Given the description of an element on the screen output the (x, y) to click on. 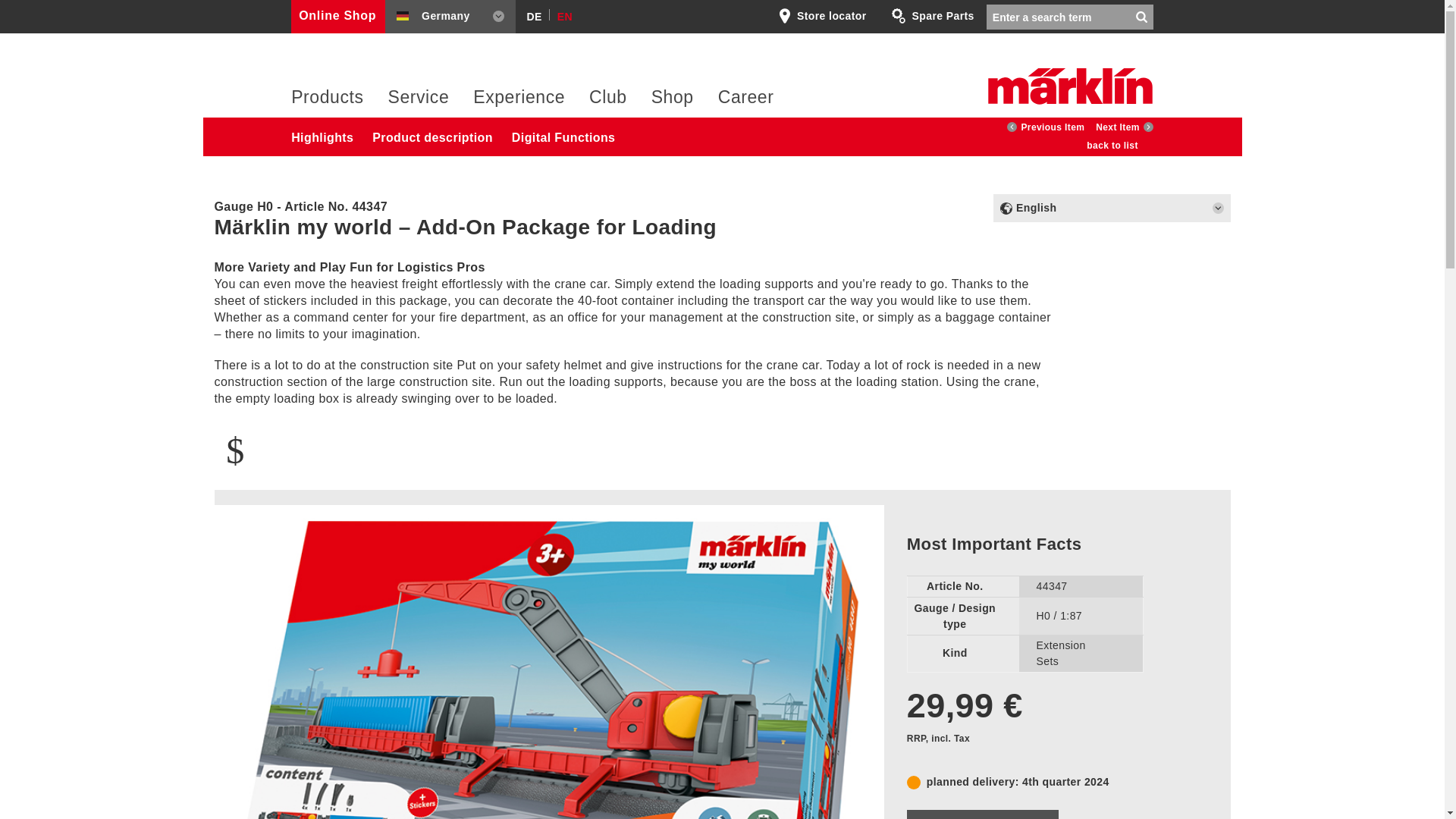
DE (530, 13)
Store locator (822, 16)
Product description (440, 136)
Zum Shop (339, 16)
Online Shop (339, 16)
Spare Parts (932, 16)
Products (326, 101)
Highlights (329, 136)
EN (561, 13)
Digital Functions (571, 136)
Products (326, 101)
